Given the description of an element on the screen output the (x, y) to click on. 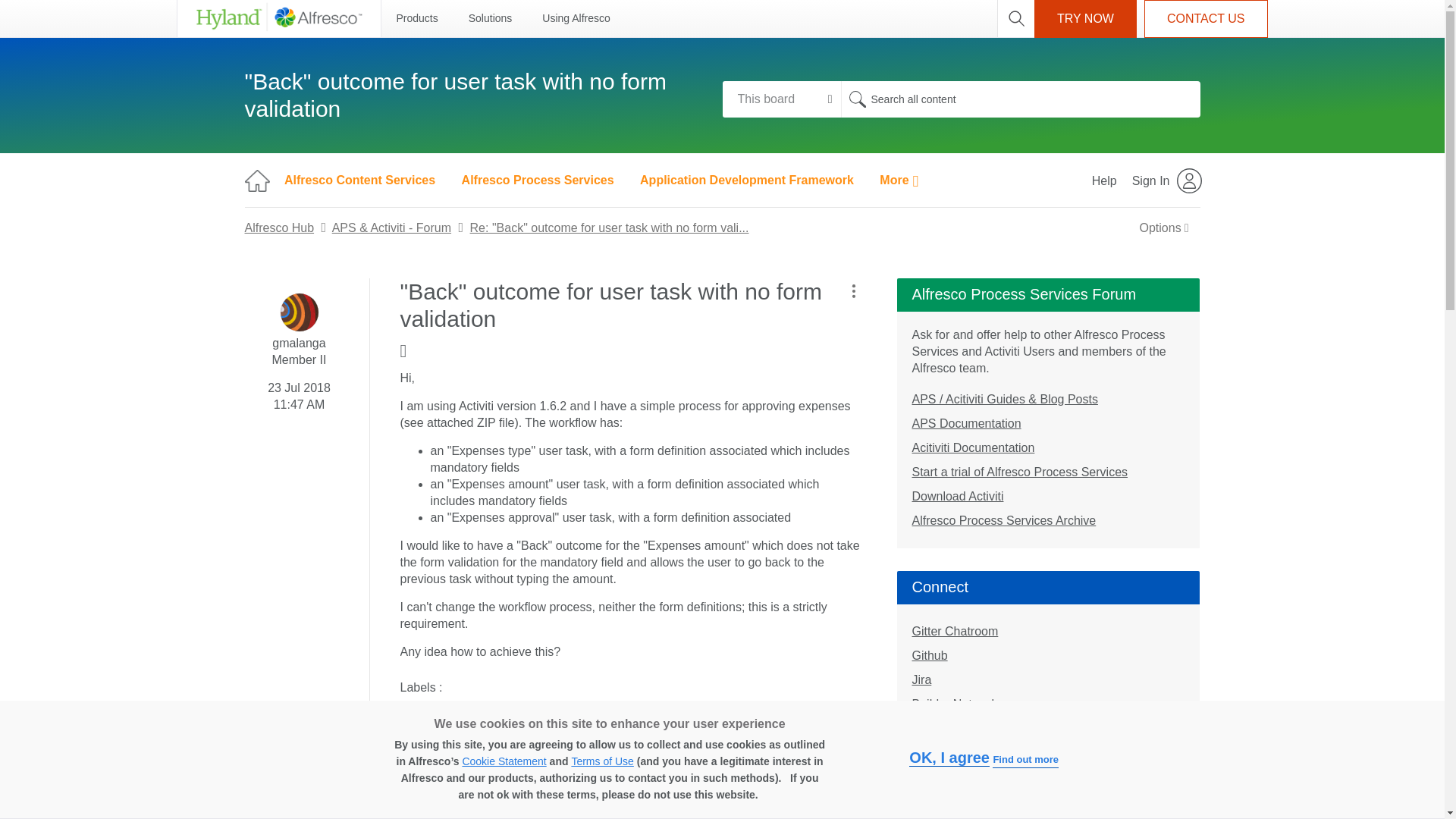
gmalanga (299, 312)
Posted on (298, 392)
Products (416, 18)
CONTACT US (1206, 18)
More (898, 180)
Search (1019, 98)
Search (856, 98)
Show option menu (853, 290)
Search (856, 98)
Sign In (1167, 180)
